Given the description of an element on the screen output the (x, y) to click on. 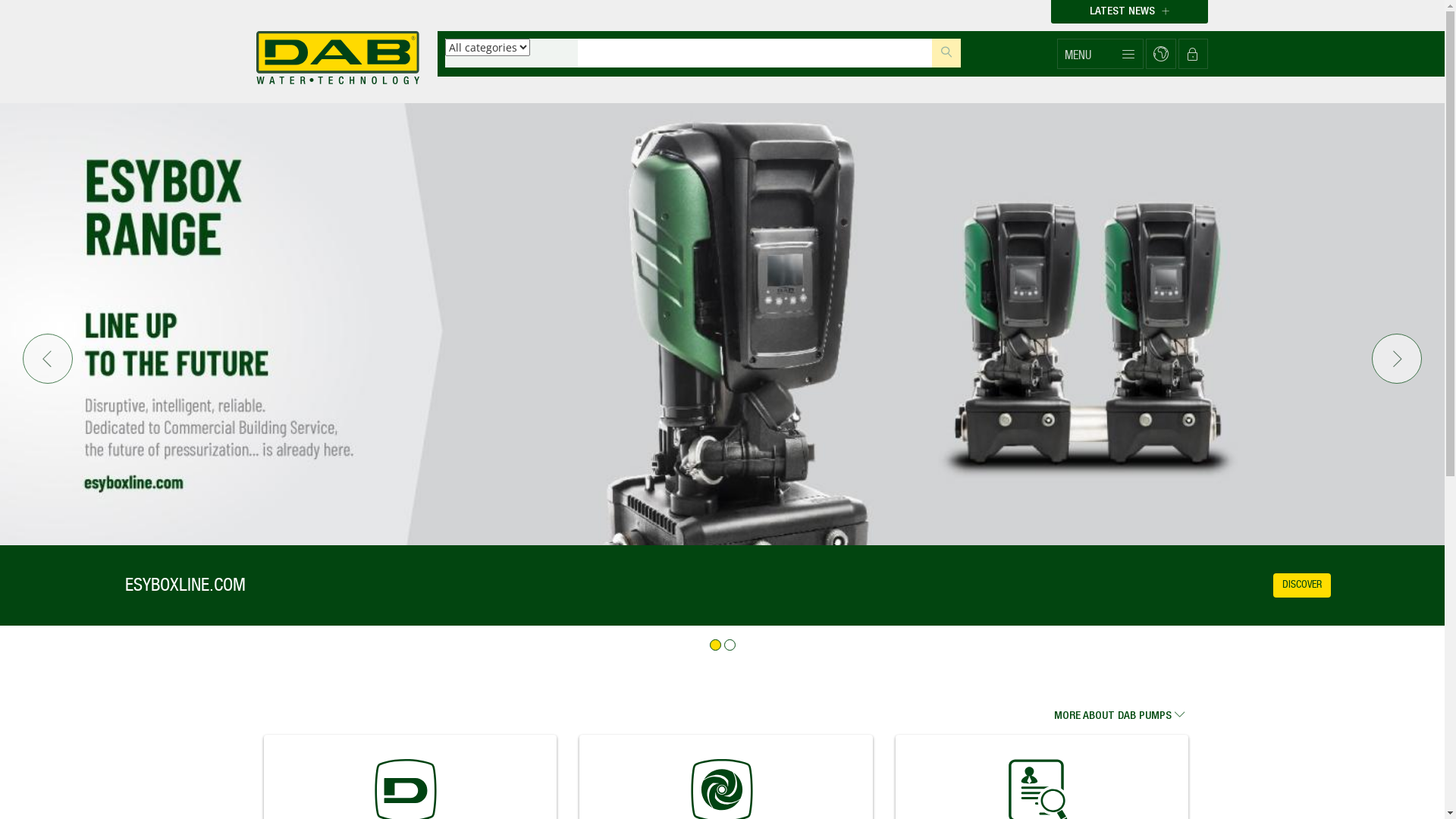
LATEST NEWS Element type: text (1129, 11)
DISCOVER Element type: text (1301, 585)
MENU Element type: text (1099, 53)
DISCOVER Element type: text (1358, 585)
MORE ABOUT DAB PUMPS Element type: text (1127, 710)
Insert search keys Element type: hover (754, 52)
Skip to main content Element type: text (0, 0)
